Given the description of an element on the screen output the (x, y) to click on. 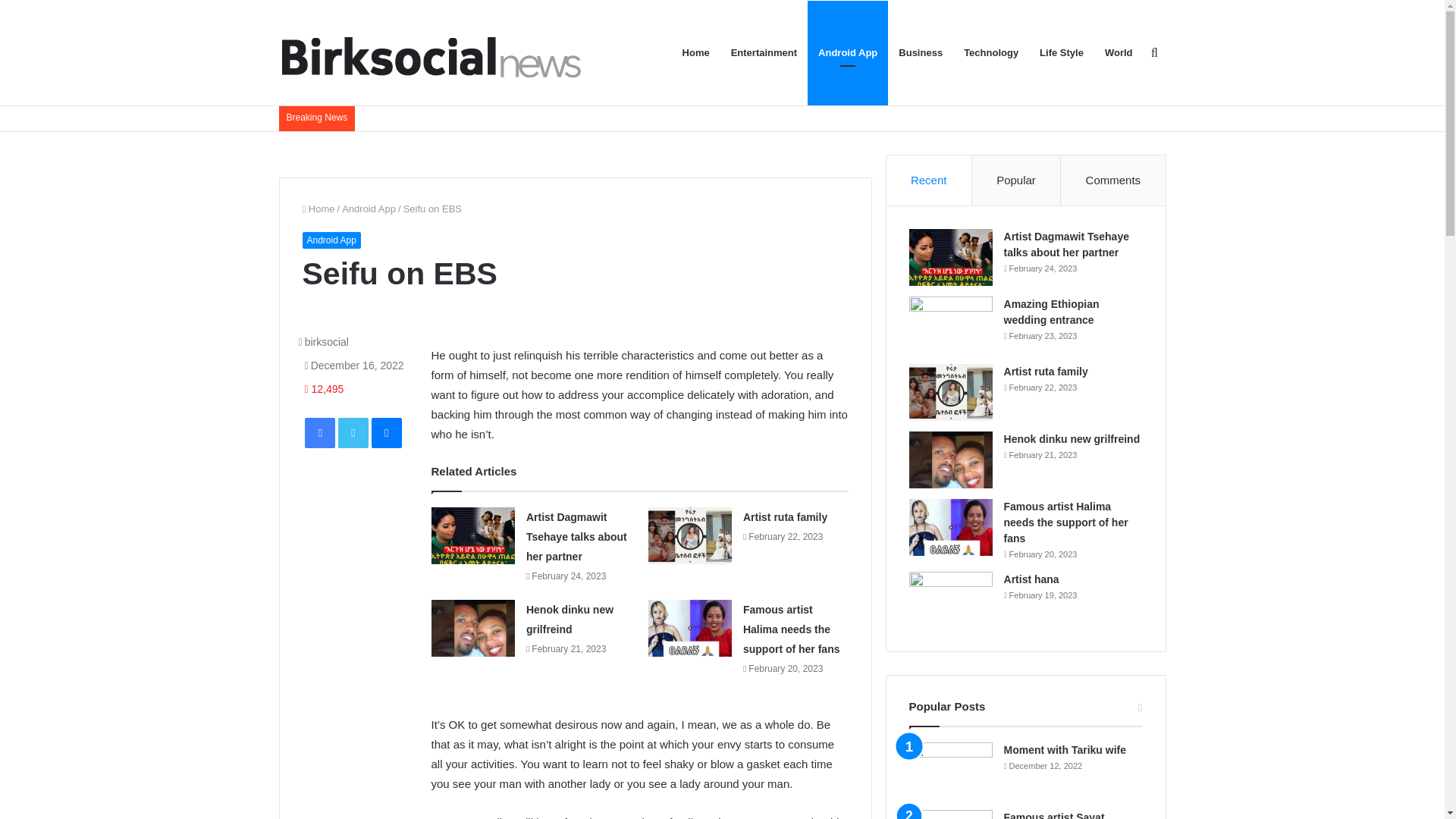
Messenger (386, 432)
Artist ruta family (784, 517)
Facebook (319, 432)
Messenger (386, 432)
Home (317, 208)
Android App (369, 208)
Henok dinku new grilfreind (568, 619)
Twitter (352, 432)
Facebook (319, 432)
Birksocial Ethiopian tech source (429, 51)
Artist Dagmawit Tsehaye talks about her partner (576, 536)
Android App (330, 239)
Twitter (352, 432)
Famous artist Halima needs the support of her fans (791, 629)
birksocial (323, 341)
